Given the description of an element on the screen output the (x, y) to click on. 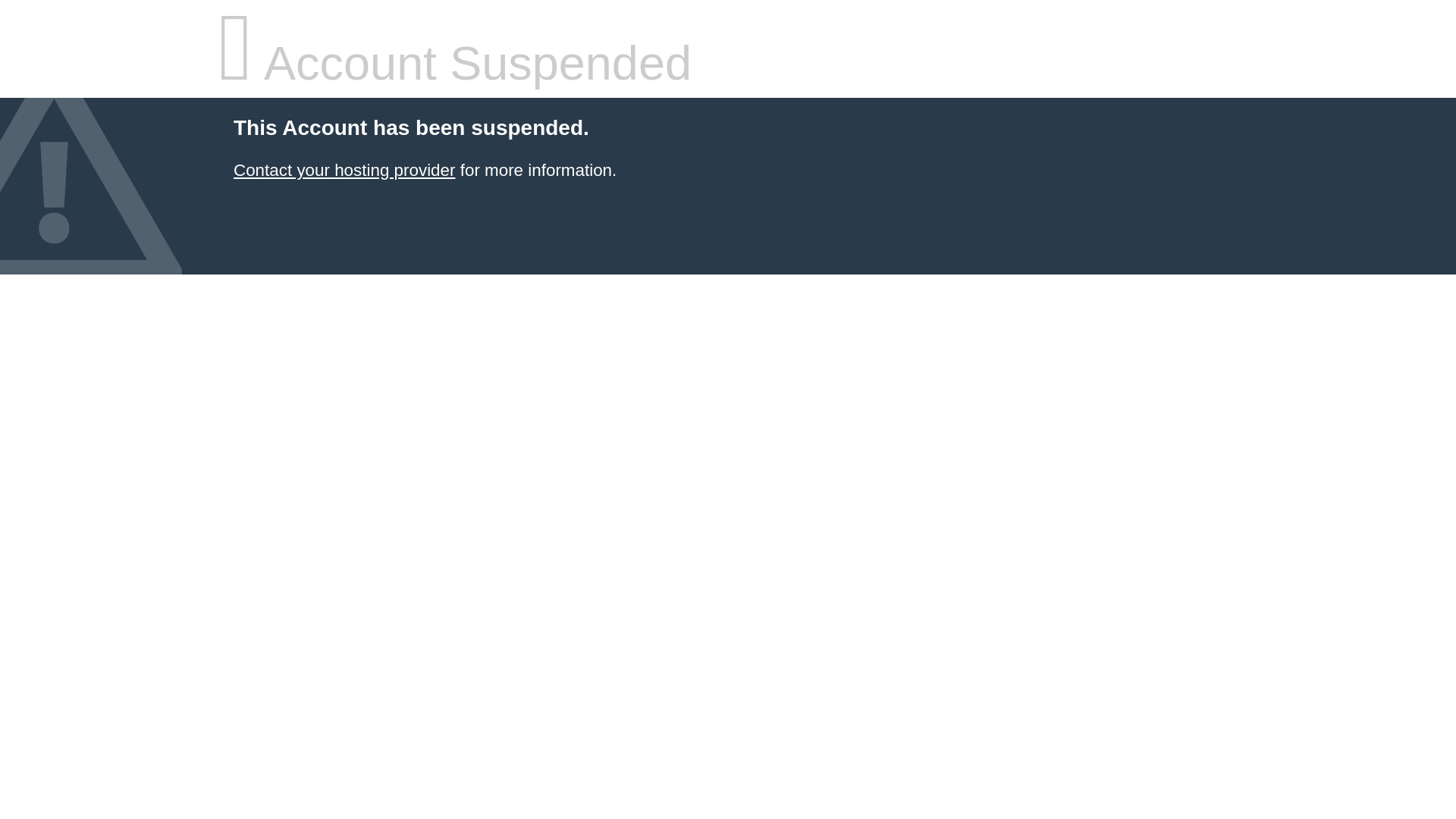
Contact your hosting provider (343, 169)
